Given the description of an element on the screen output the (x, y) to click on. 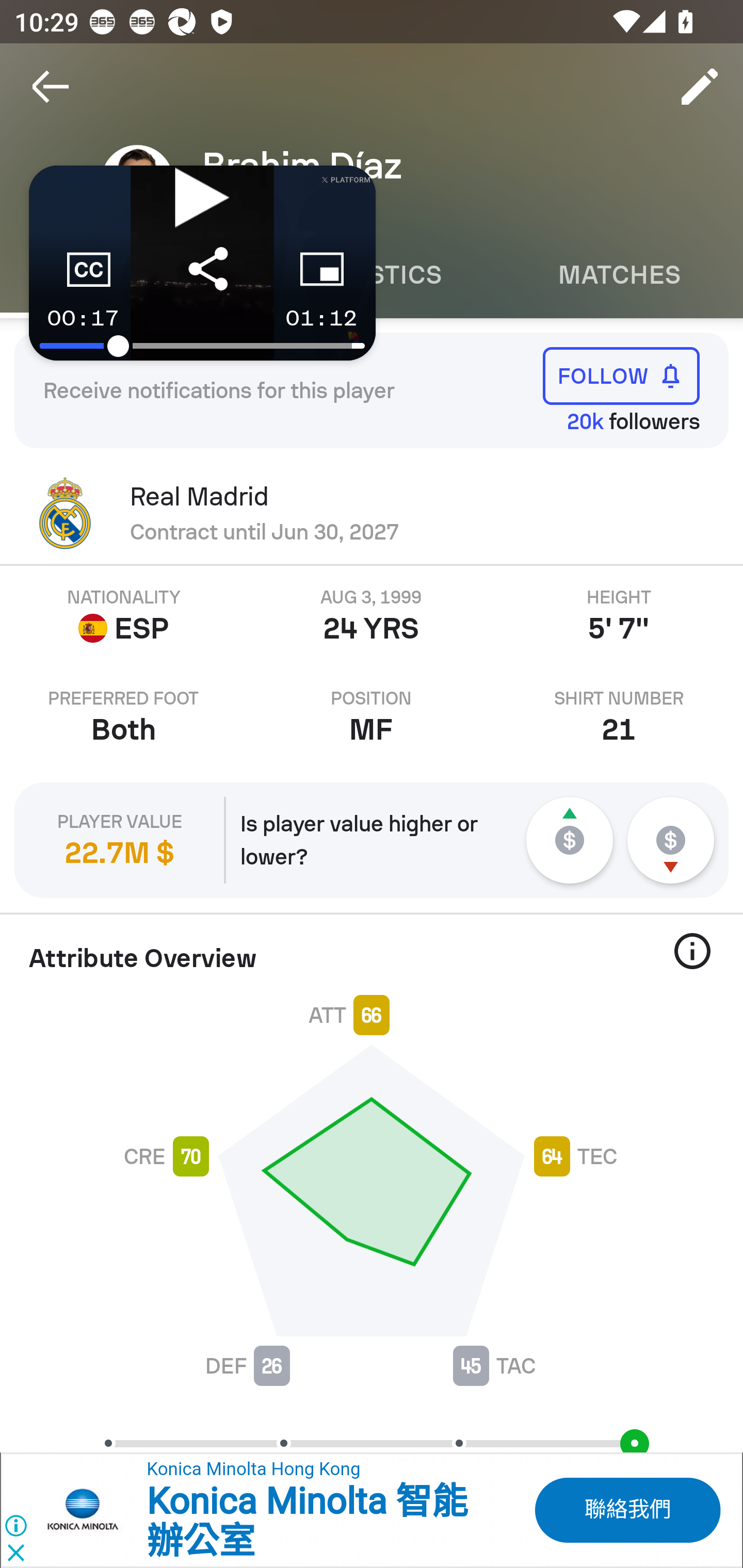
Navigate up (50, 86)
Edit (699, 86)
Matches MATCHES (619, 275)
FOLLOW (621, 375)
Real Madrid Contract until Jun 30, 2027 (371, 513)
NATIONALITY ESP (123, 616)
POSITION MF (371, 717)
Konica Minolta Hong Kong (252, 1469)
聯絡我們 (626, 1509)
Konica Minolta 智能 辦公室 Konica Minolta 智能 辦公室 (306, 1521)
